Given the description of an element on the screen output the (x, y) to click on. 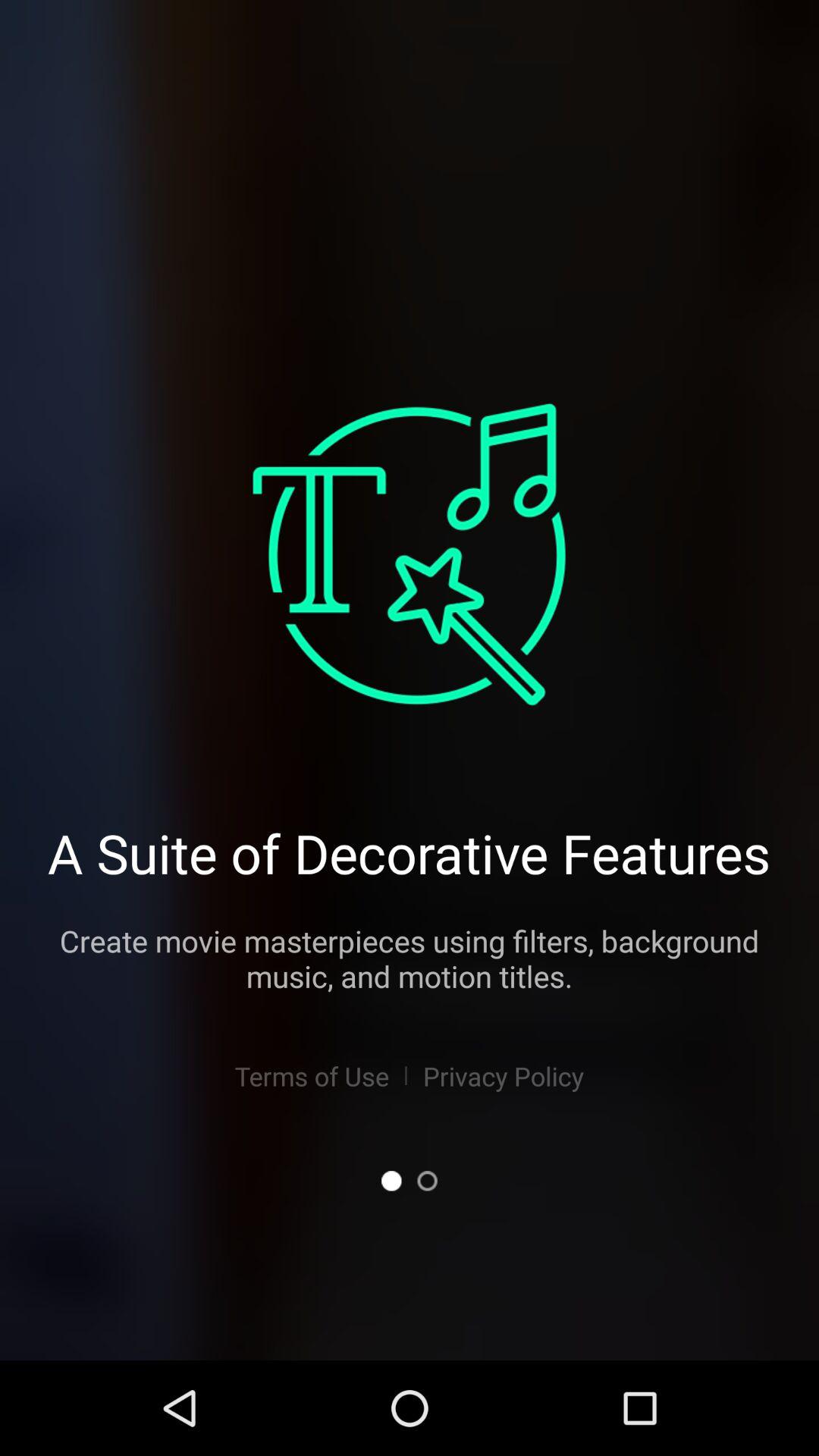
swipe until privacy policy (503, 1075)
